Given the description of an element on the screen output the (x, y) to click on. 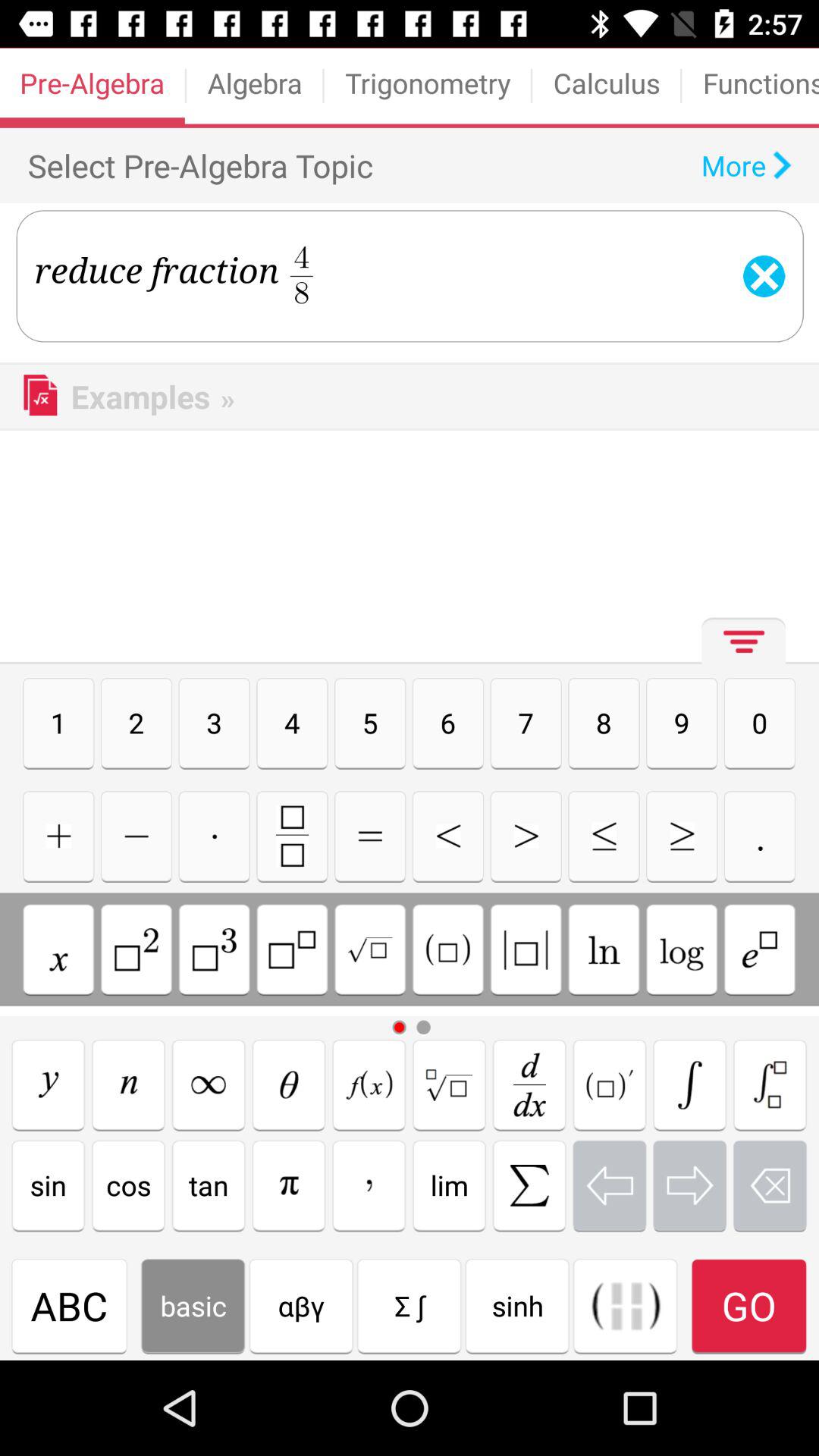
click log (681, 949)
